Given the description of an element on the screen output the (x, y) to click on. 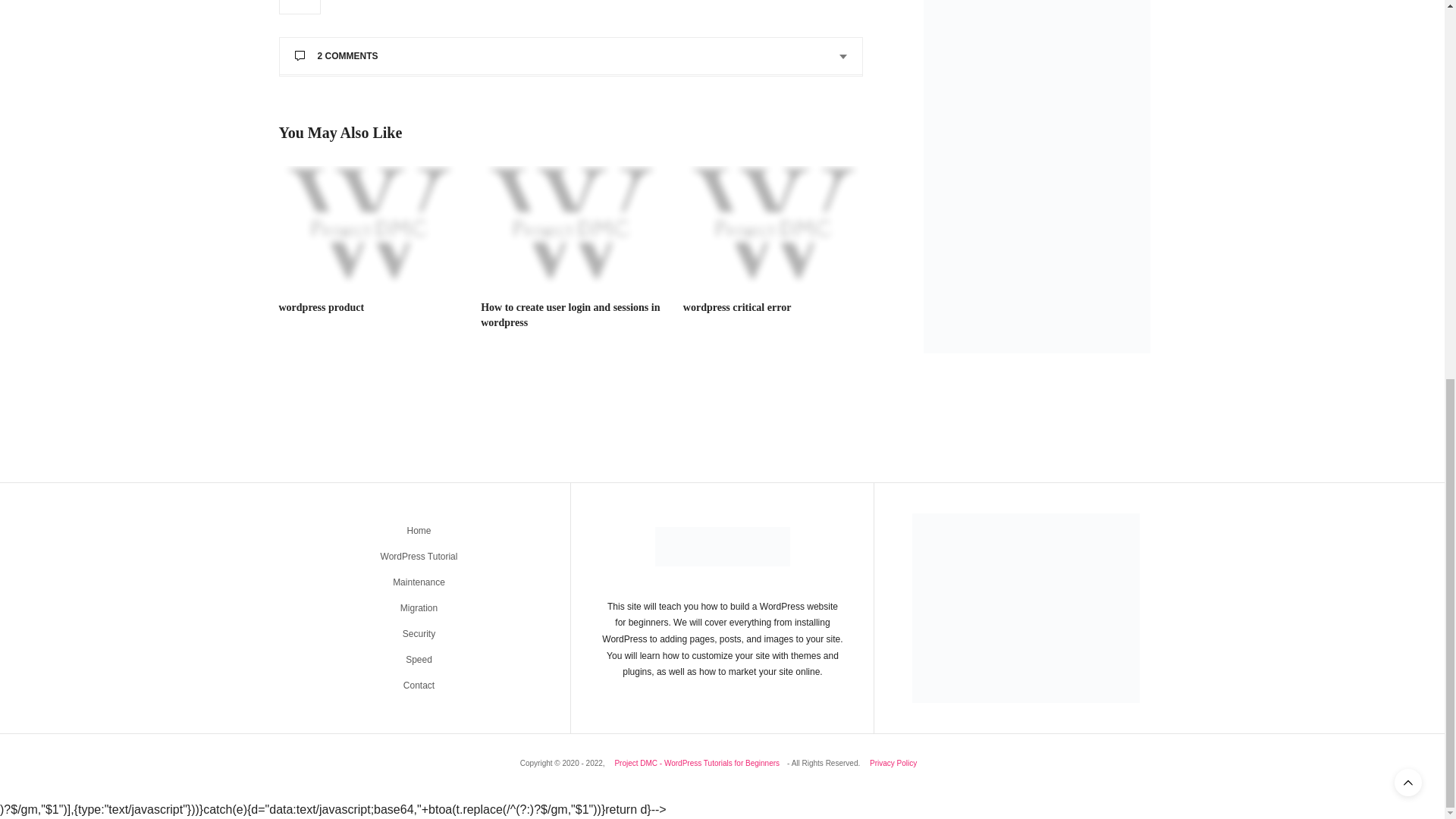
How to create user login and sessions in wordpress (569, 315)
wordpress product (368, 226)
Scroll To Top (1408, 80)
wordpress critical error (737, 307)
wordpress product (322, 307)
How to create user login and sessions in wordpress (570, 226)
2 (299, 7)
wordpress critical error (772, 226)
